Given the description of an element on the screen output the (x, y) to click on. 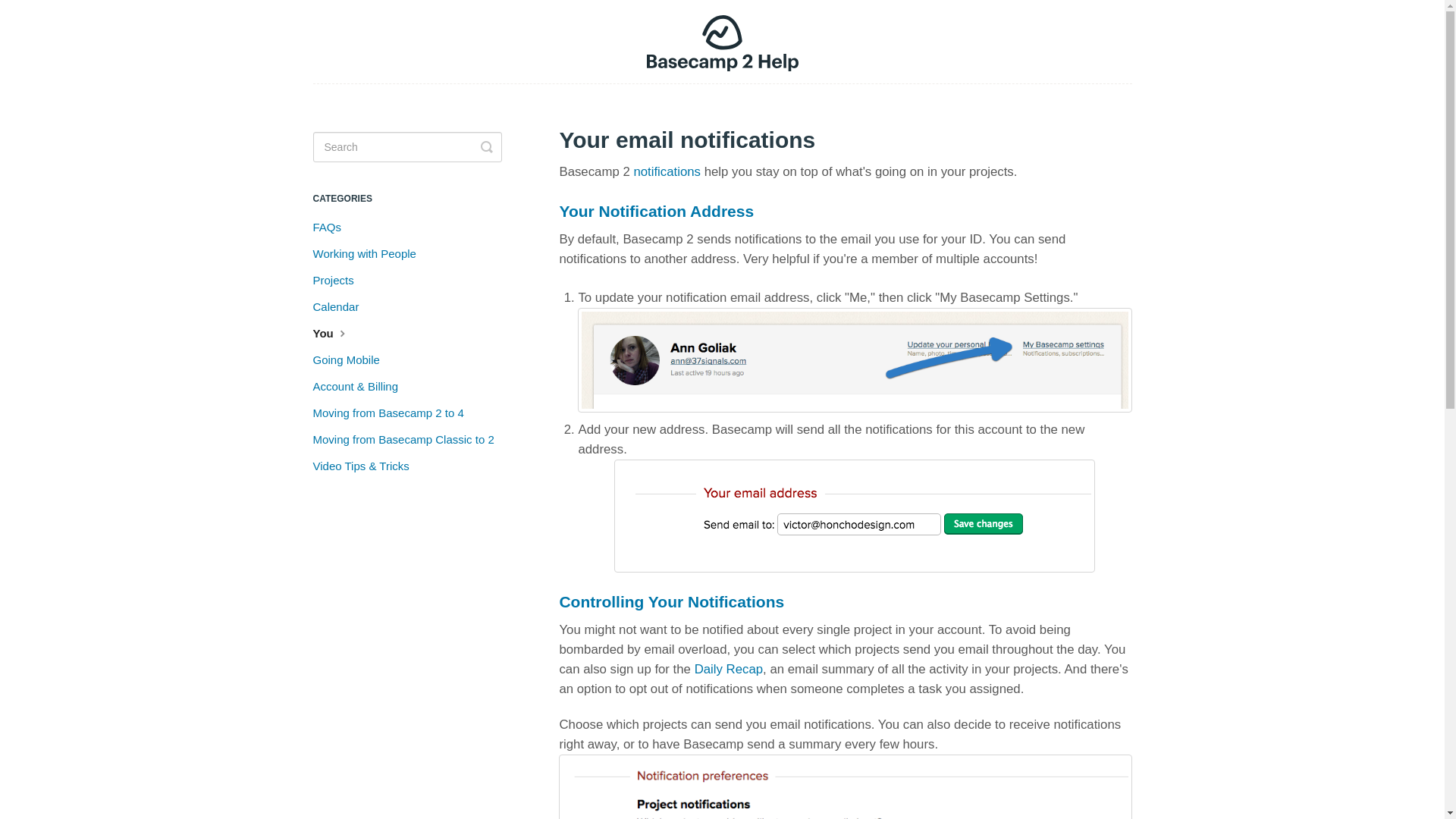
Moving from Basecamp Classic to 2 (409, 439)
Basecamp 2 Help (721, 41)
Your Notification Address (656, 211)
Calendar (341, 306)
Moving from Basecamp 2 to 4 (393, 413)
Working with People (369, 253)
Controlling Your Notifications (671, 601)
You (337, 333)
Daily Recap (728, 668)
FAQs (332, 227)
